Given the description of an element on the screen output the (x, y) to click on. 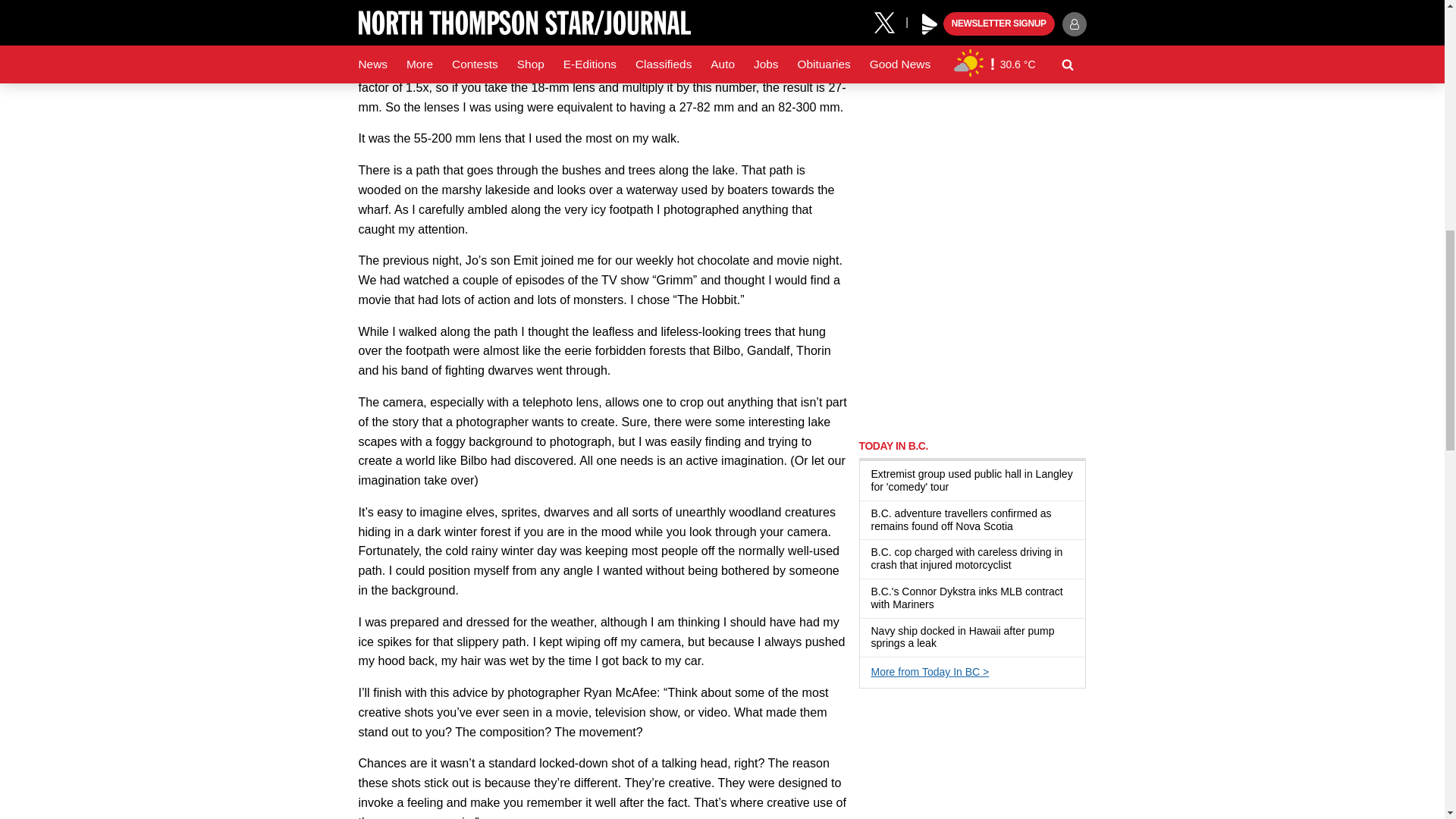
3rd party ad content (972, 329)
